Given the description of an element on the screen output the (x, y) to click on. 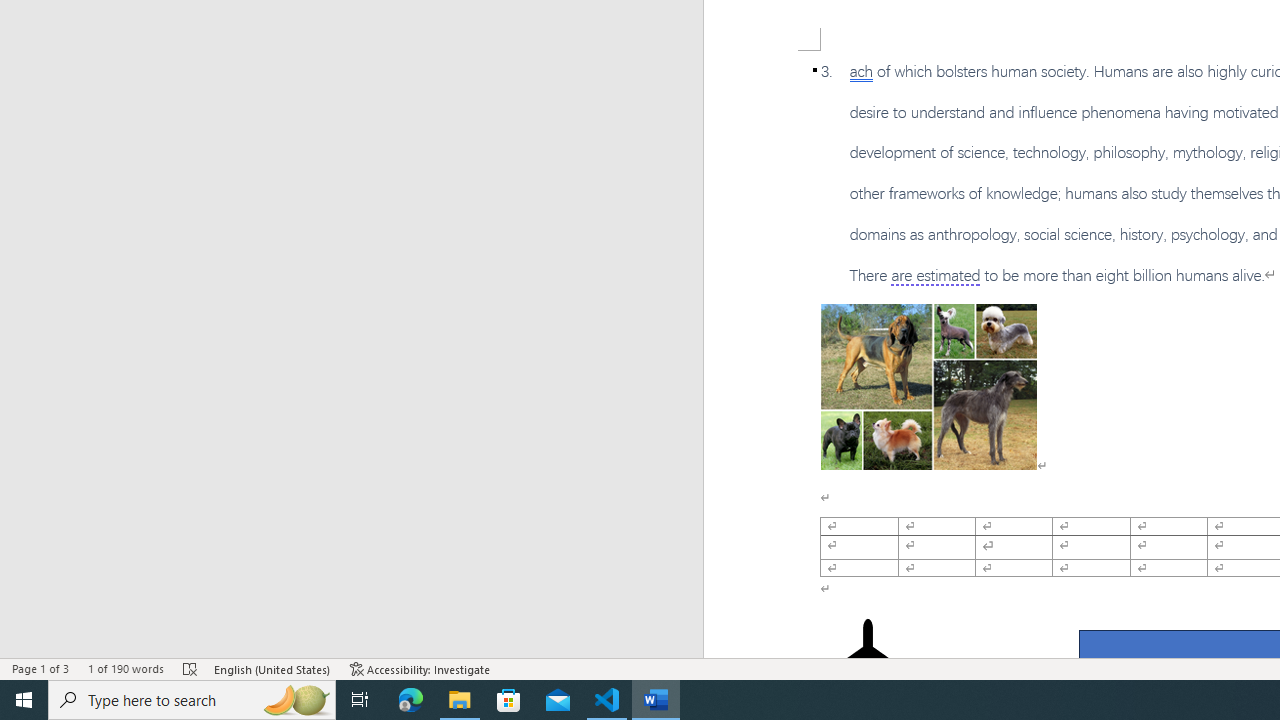
Airplane with solid fill (867, 657)
Page Number Page 1 of 3 (39, 668)
Morphological variation in six dogs (928, 386)
Spelling and Grammar Check Errors (191, 668)
